Given the description of an element on the screen output the (x, y) to click on. 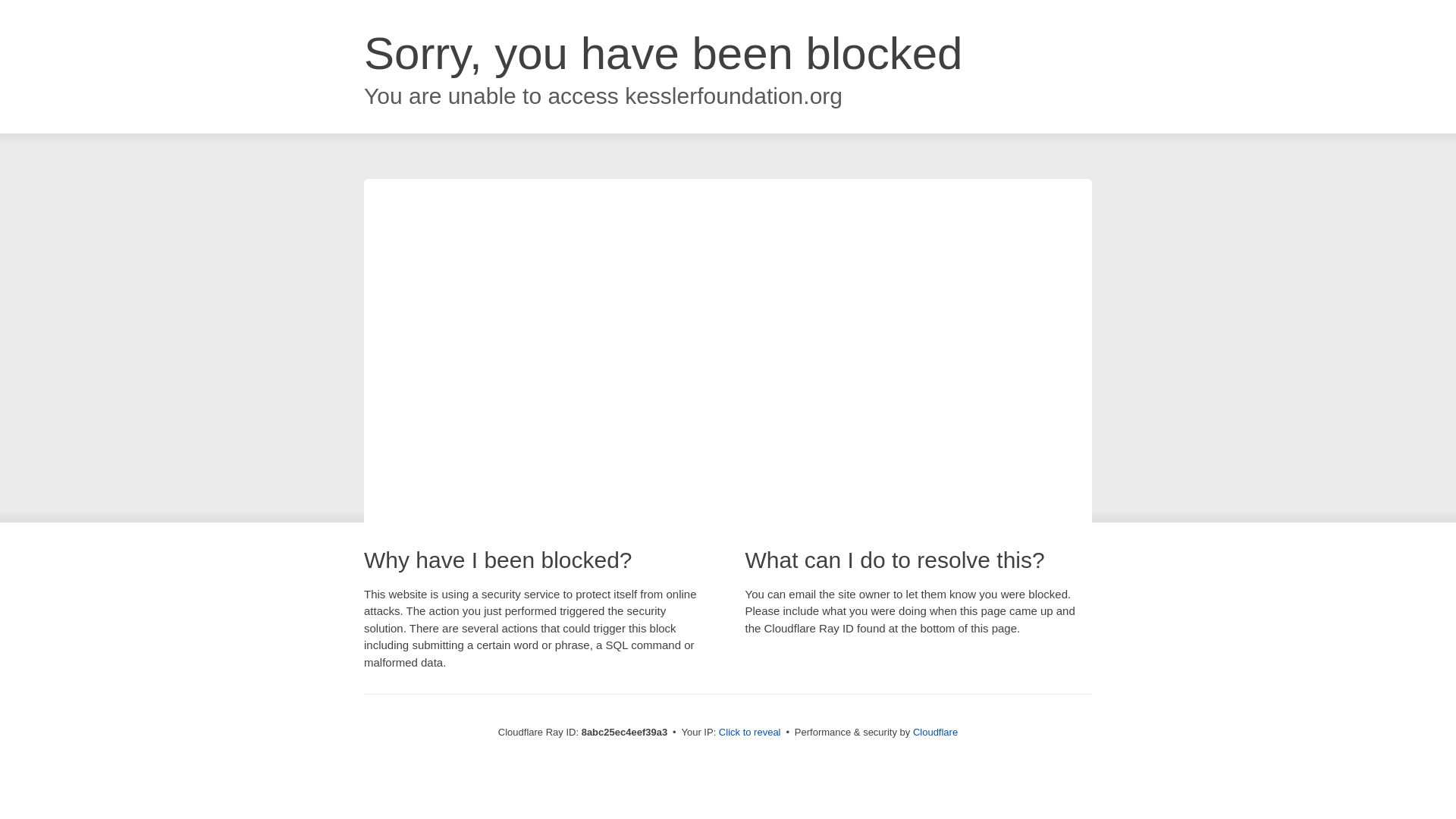
Cloudflare (935, 731)
Click to reveal (749, 732)
